Given the description of an element on the screen output the (x, y) to click on. 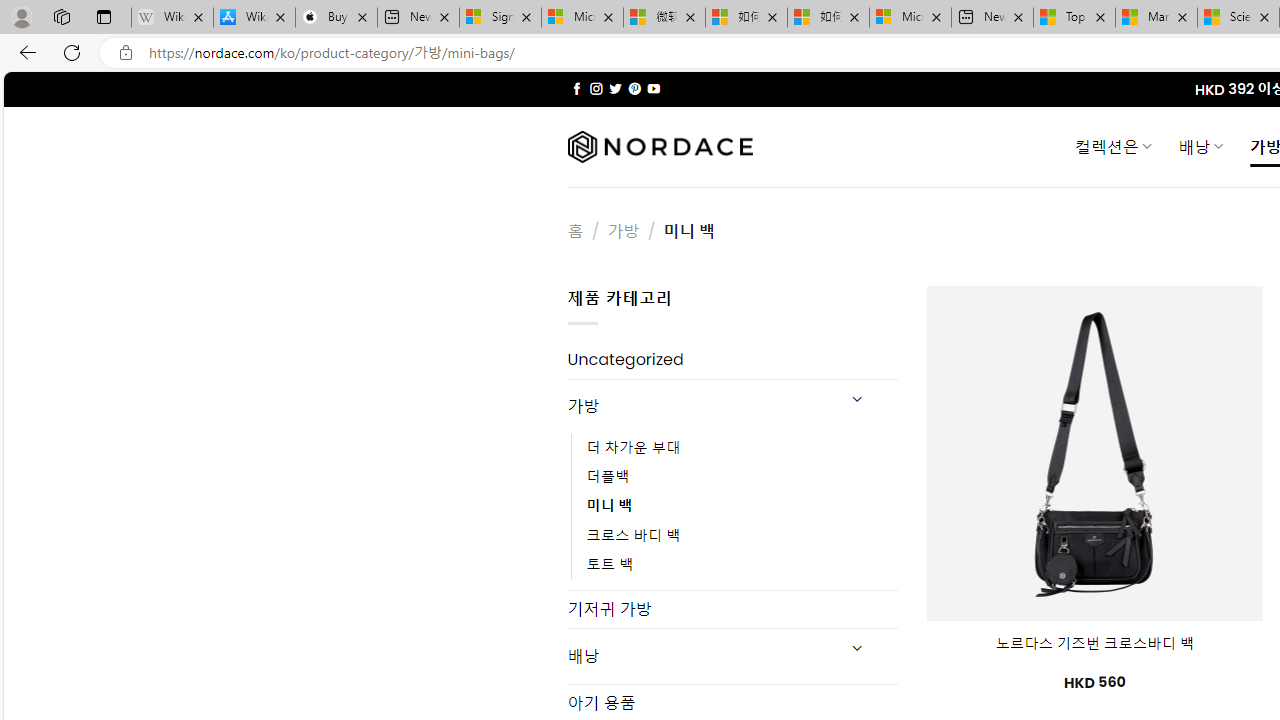
Follow on Instagram (596, 88)
Follow on Pinterest (634, 88)
Follow on YouTube (653, 88)
Microsoft Services Agreement (582, 17)
